Given the description of an element on the screen output the (x, y) to click on. 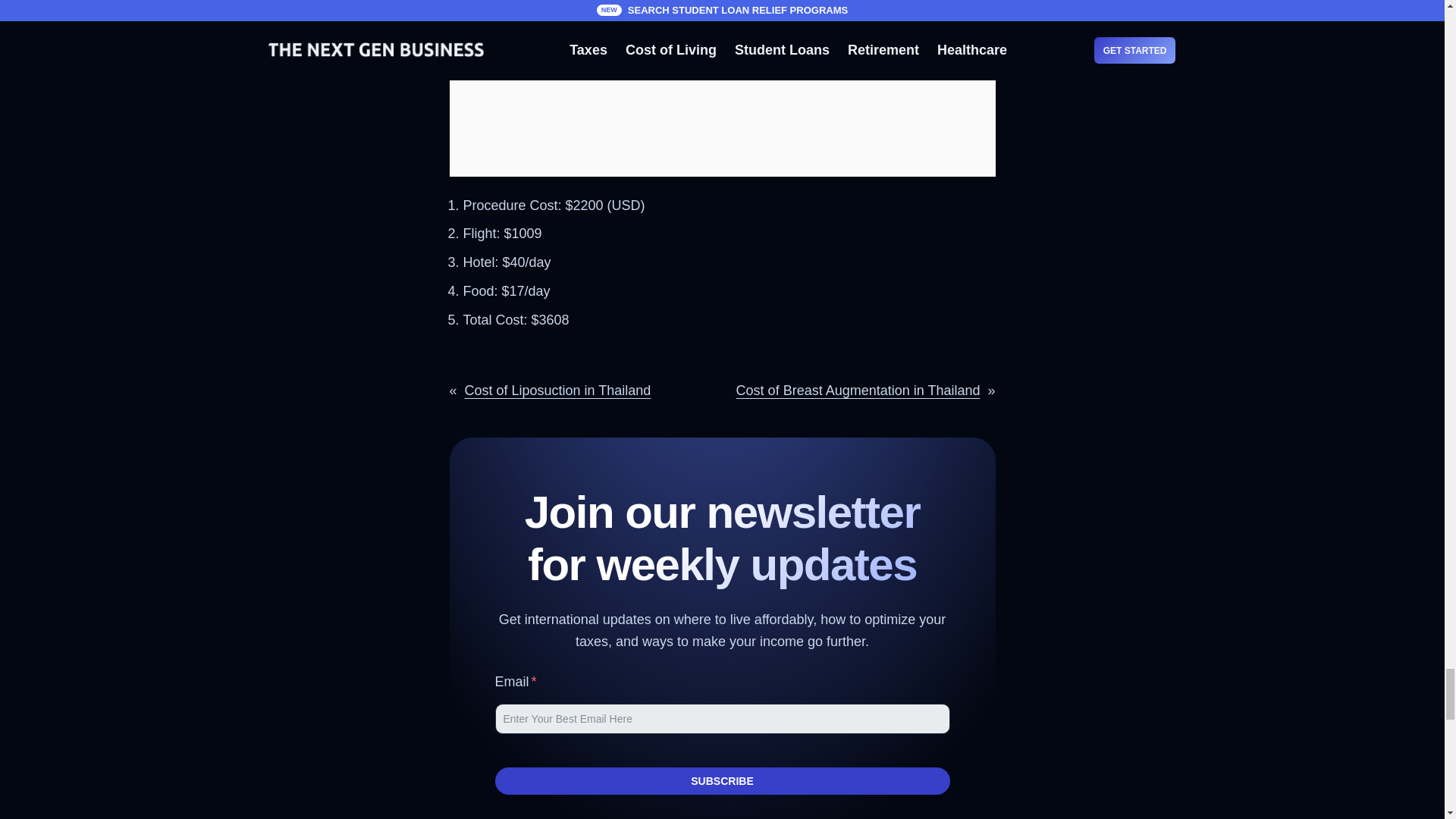
Cost of Liposuction in Thailand (557, 390)
Cost of Breast Augmentation in Thailand (857, 390)
SUBSCRIBE (722, 780)
